Given the description of an element on the screen output the (x, y) to click on. 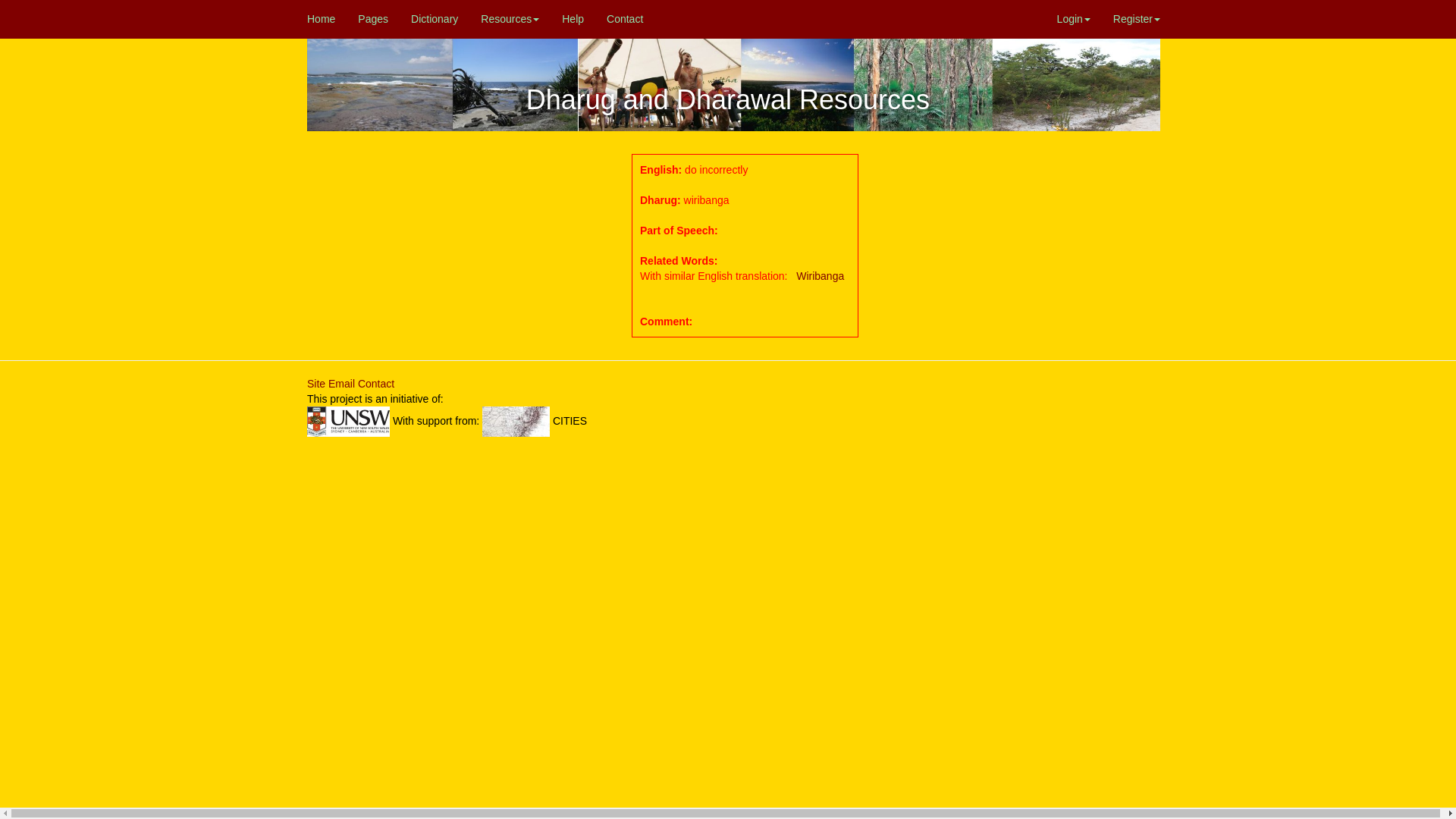
Wiribanga Element type: text (820, 275)
Login Element type: text (1073, 18)
Help Element type: text (572, 18)
Register Element type: text (1136, 18)
Contact Element type: text (624, 18)
Resources Element type: text (509, 18)
Pages Element type: text (372, 18)
Home Element type: text (320, 18)
Dictionary Element type: text (434, 18)
Dharug and Dharawal Resources Element type: text (806, 99)
Site Email Contact Element type: text (350, 383)
